Given the description of an element on the screen output the (x, y) to click on. 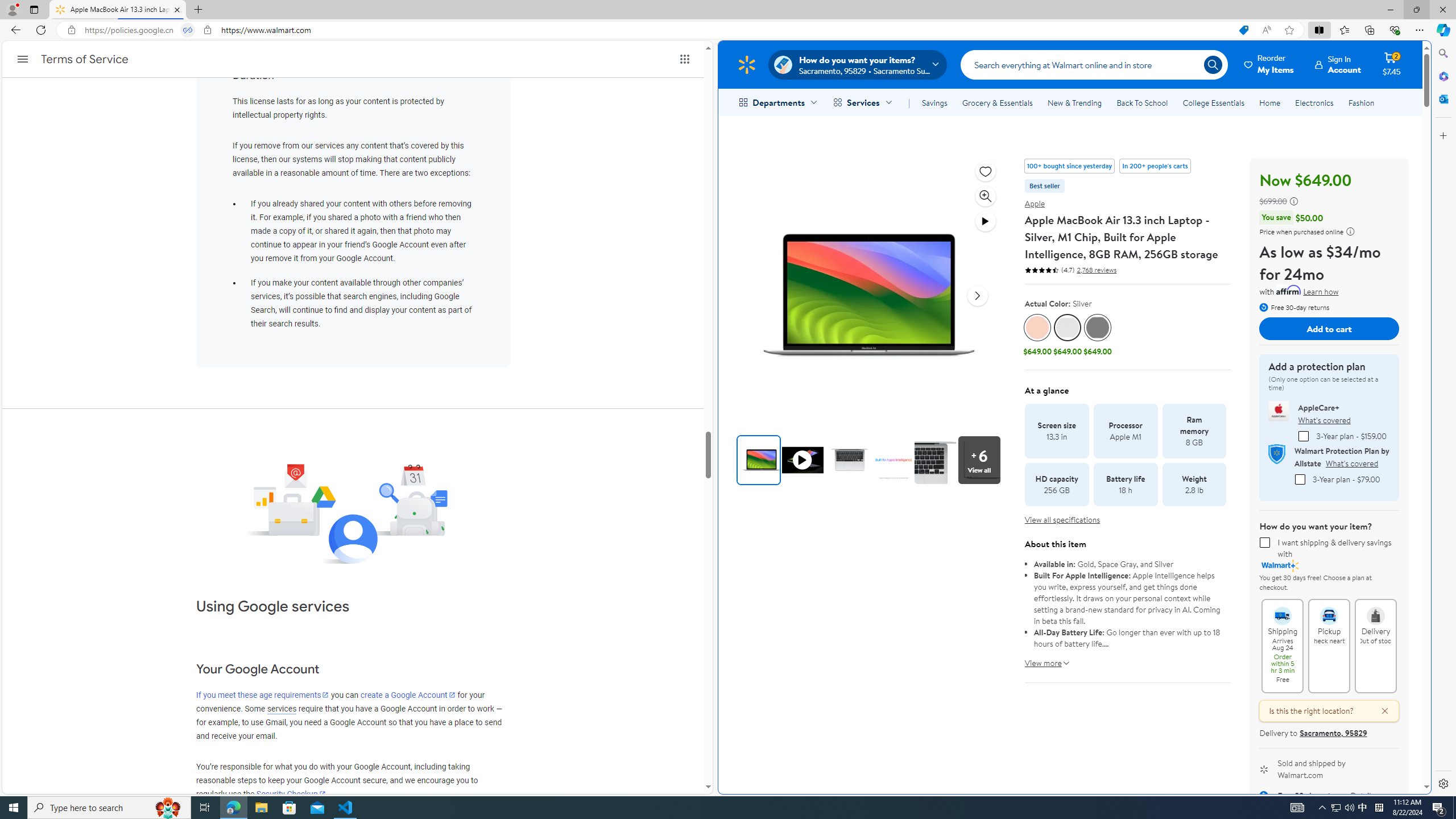
Delivery Out of stock (1375, 610)
Available in: Gold, Space Gray, and Silver (1127, 564)
Cart contains 2 items Total Amount $7.45 (1391, 64)
Shipping Arrives Aug 24 Order within 5 hr 3 min Free (1282, 610)
2,768 reviews (1095, 269)
Learn how (1321, 291)
Sign In Account (1338, 64)
Fashion (1361, 102)
Pickup Check nearby (1328, 610)
